Given the description of an element on the screen output the (x, y) to click on. 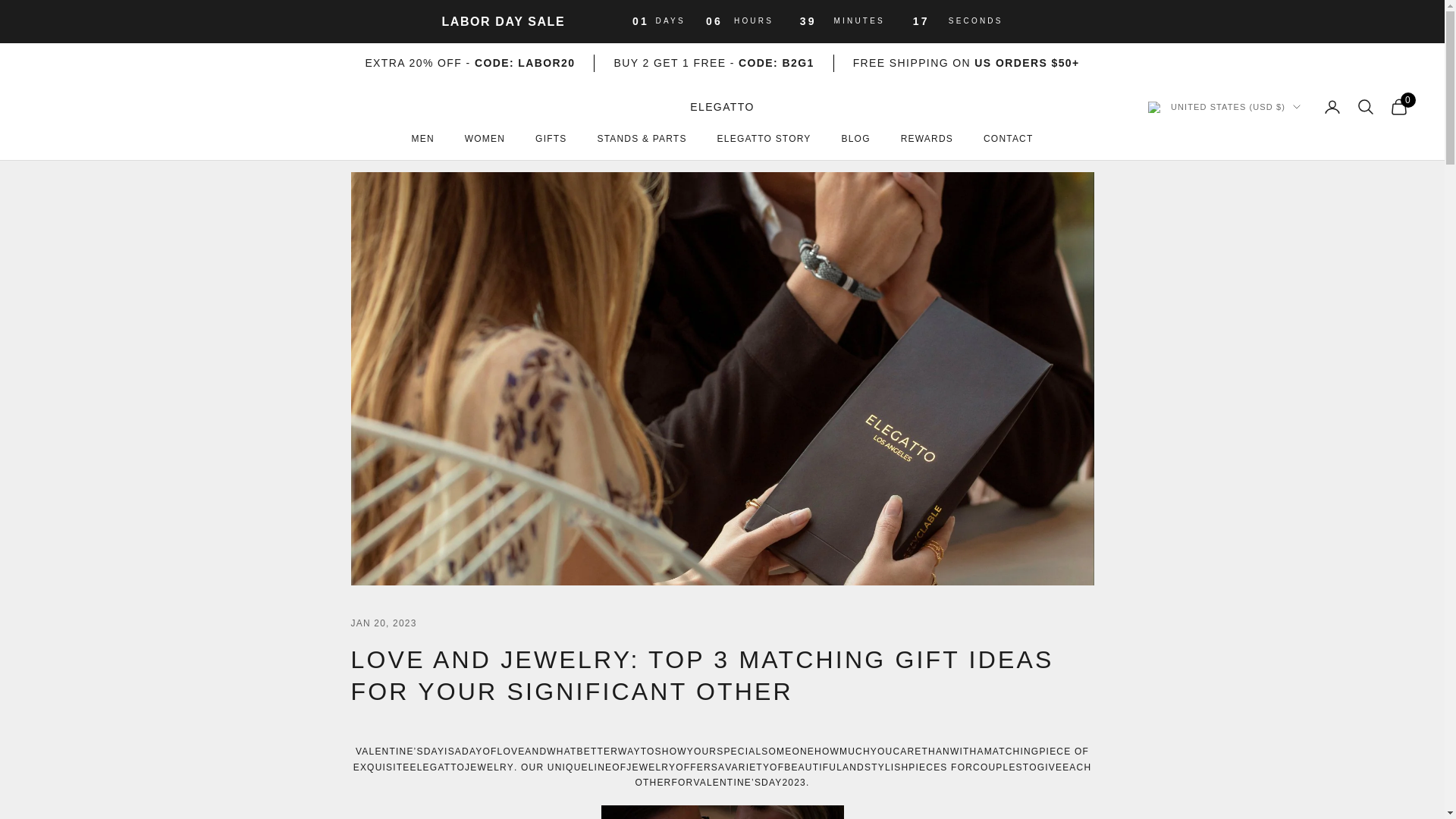
CONTACT (1008, 138)
REWARDS (927, 138)
BLOG (855, 138)
ELEGATTO STORY (763, 138)
WOMEN (484, 138)
ELEGATTO (722, 107)
